Given the description of an element on the screen output the (x, y) to click on. 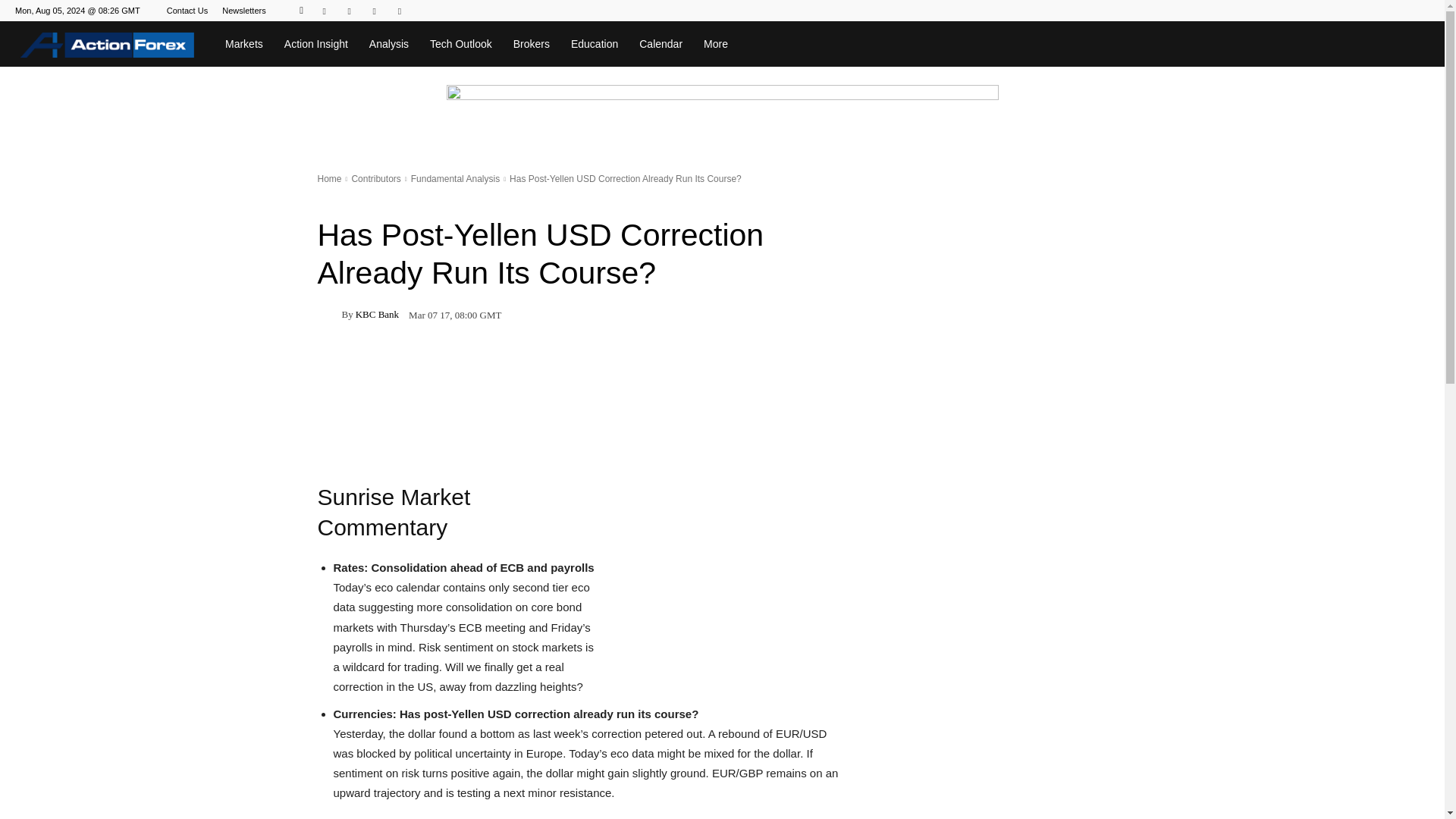
Twitter (399, 10)
RSS (373, 10)
Action Forex (106, 44)
Mail (349, 10)
Facebook (324, 10)
